Given the description of an element on the screen output the (x, y) to click on. 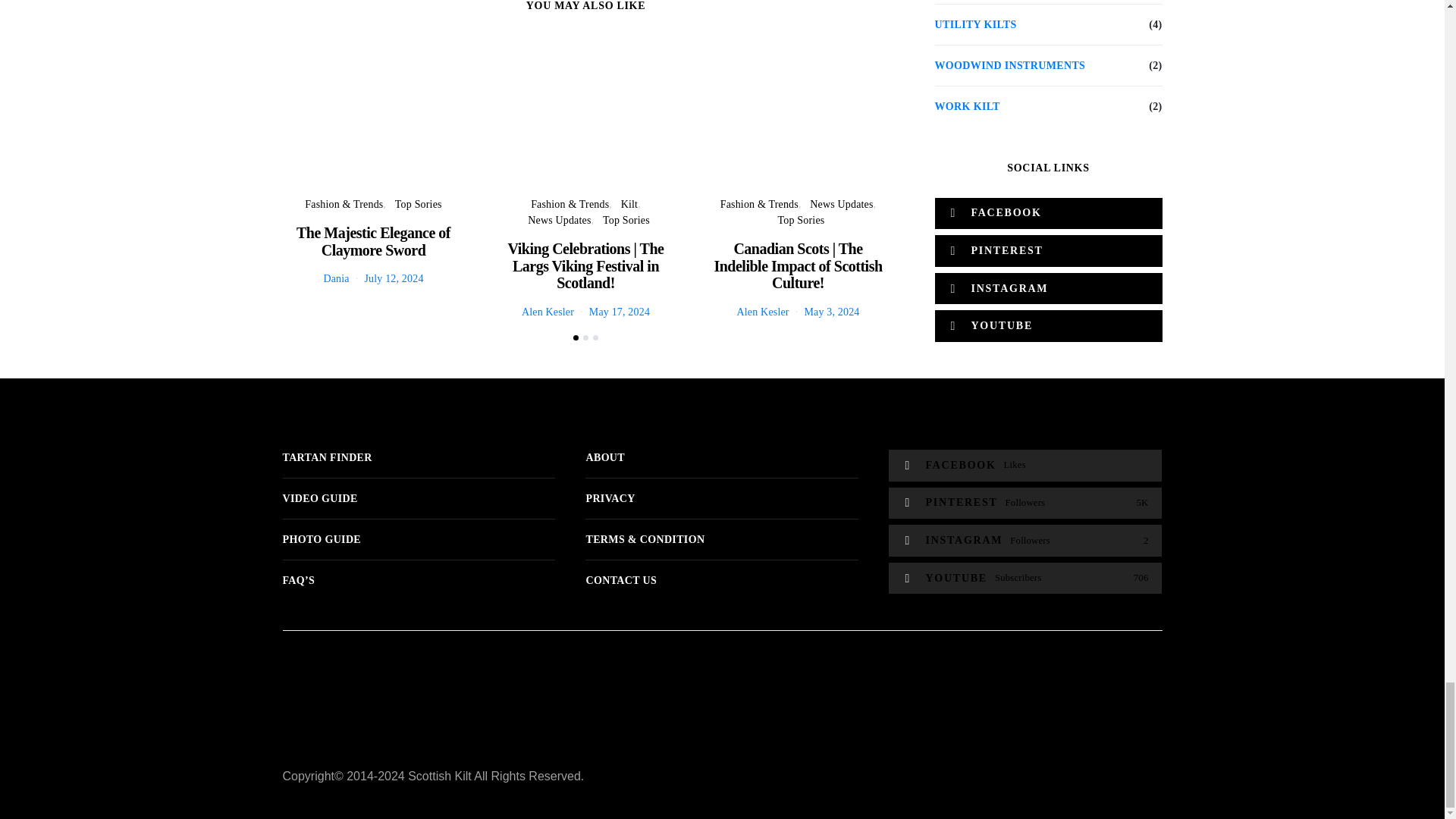
View all posts by Alen Kesler (547, 311)
View all posts by Dania (336, 278)
View all posts by Alen Kesler (762, 311)
